Given the description of an element on the screen output the (x, y) to click on. 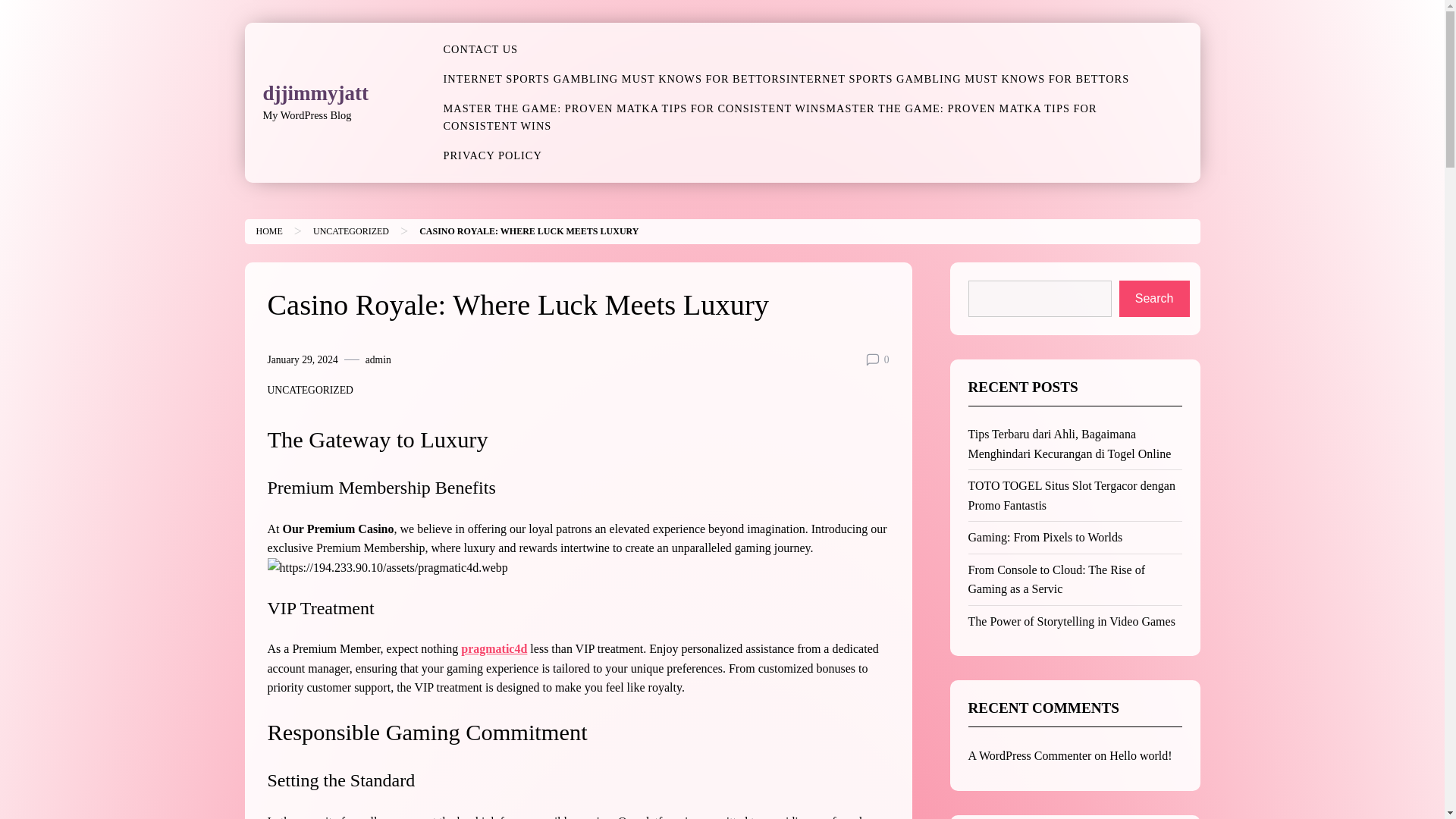
The Power of Storytelling in Video Games (1071, 621)
January 29, 2024 (301, 360)
Home (269, 231)
Casino Royale: Where Luck Meets Luxury (529, 231)
PRIVACY POLICY (492, 155)
Search (1154, 298)
djjimmyjatt (315, 92)
Gaming: From Pixels to Worlds (1045, 536)
From Console to Cloud: The Rise of Gaming as a Servic (1056, 579)
pragmatic4d (494, 648)
admin (378, 360)
CONTACT US (480, 49)
